Given the description of an element on the screen output the (x, y) to click on. 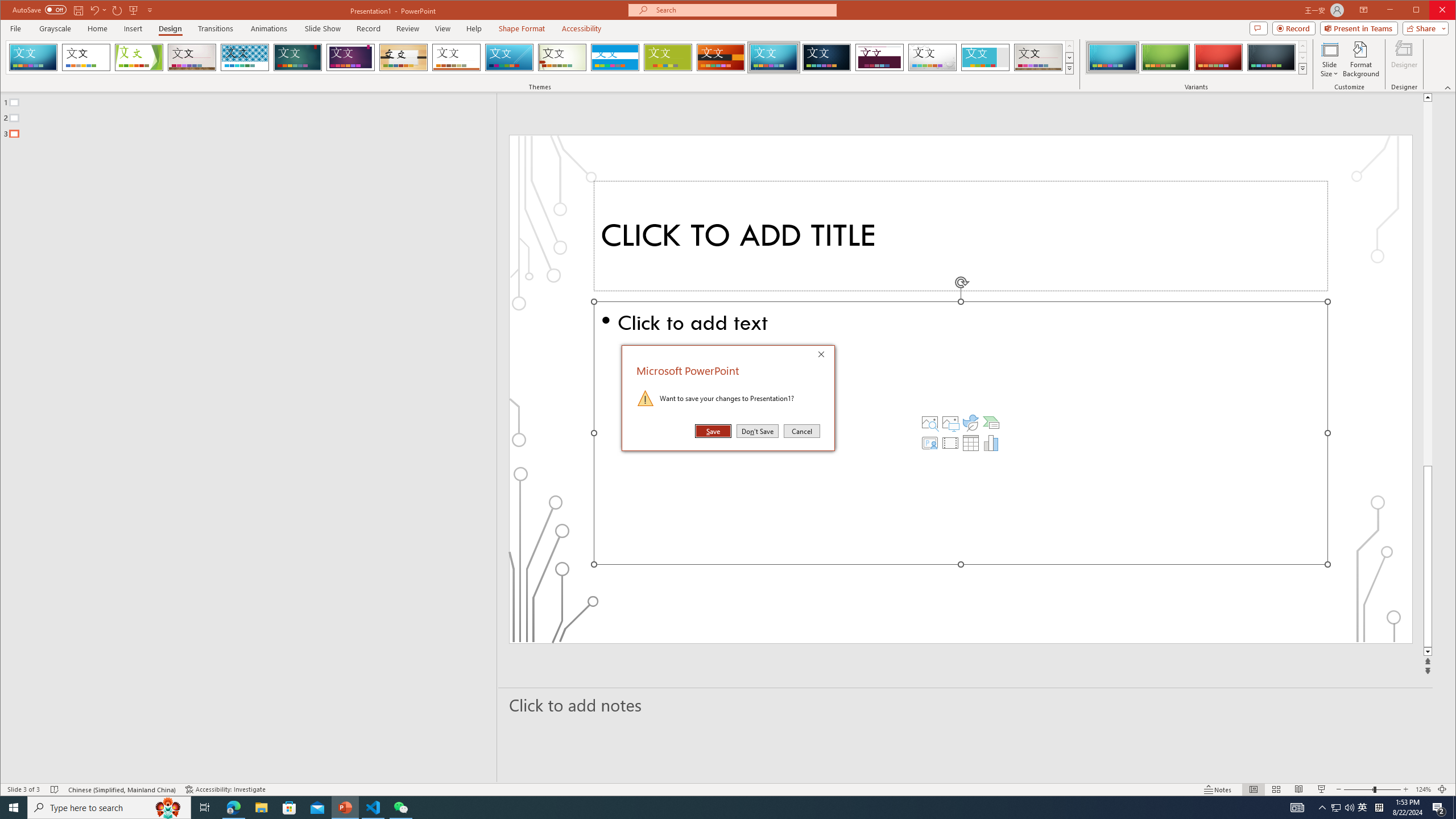
Notification Chevron (1322, 807)
